Given the description of an element on the screen output the (x, y) to click on. 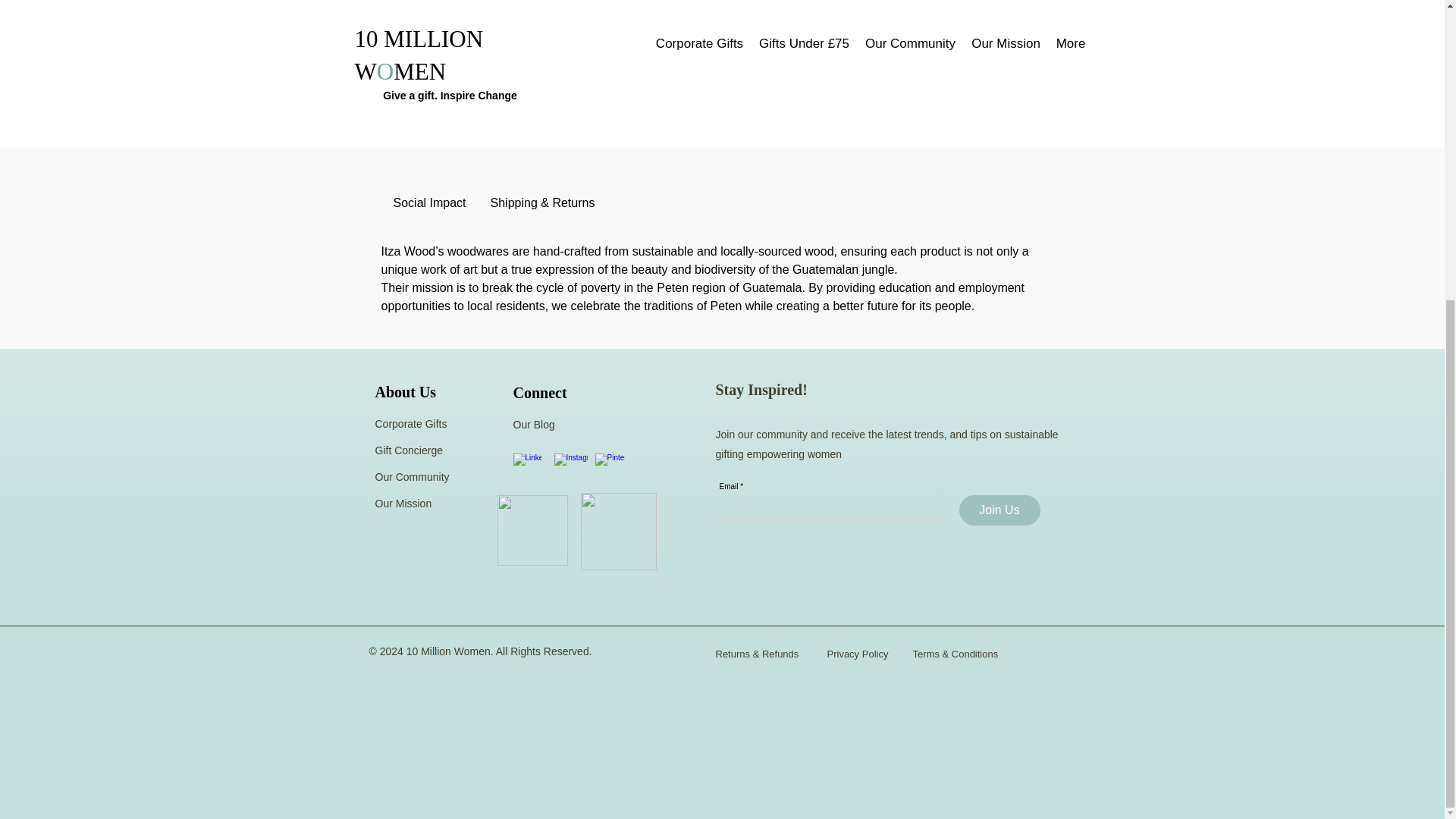
Our Community (411, 476)
We Connect Certification .png (618, 531)
Our Mission  (403, 503)
Use right and left arrows to navigate between tabs (428, 202)
Our B (526, 424)
Use right and left arrows to navigate between tabs (542, 202)
Privacy Policy (857, 654)
Corporate Gifts (410, 423)
SEUK Certified2 - business for good badg (532, 530)
Gift Concierge (408, 450)
